Given the description of an element on the screen output the (x, y) to click on. 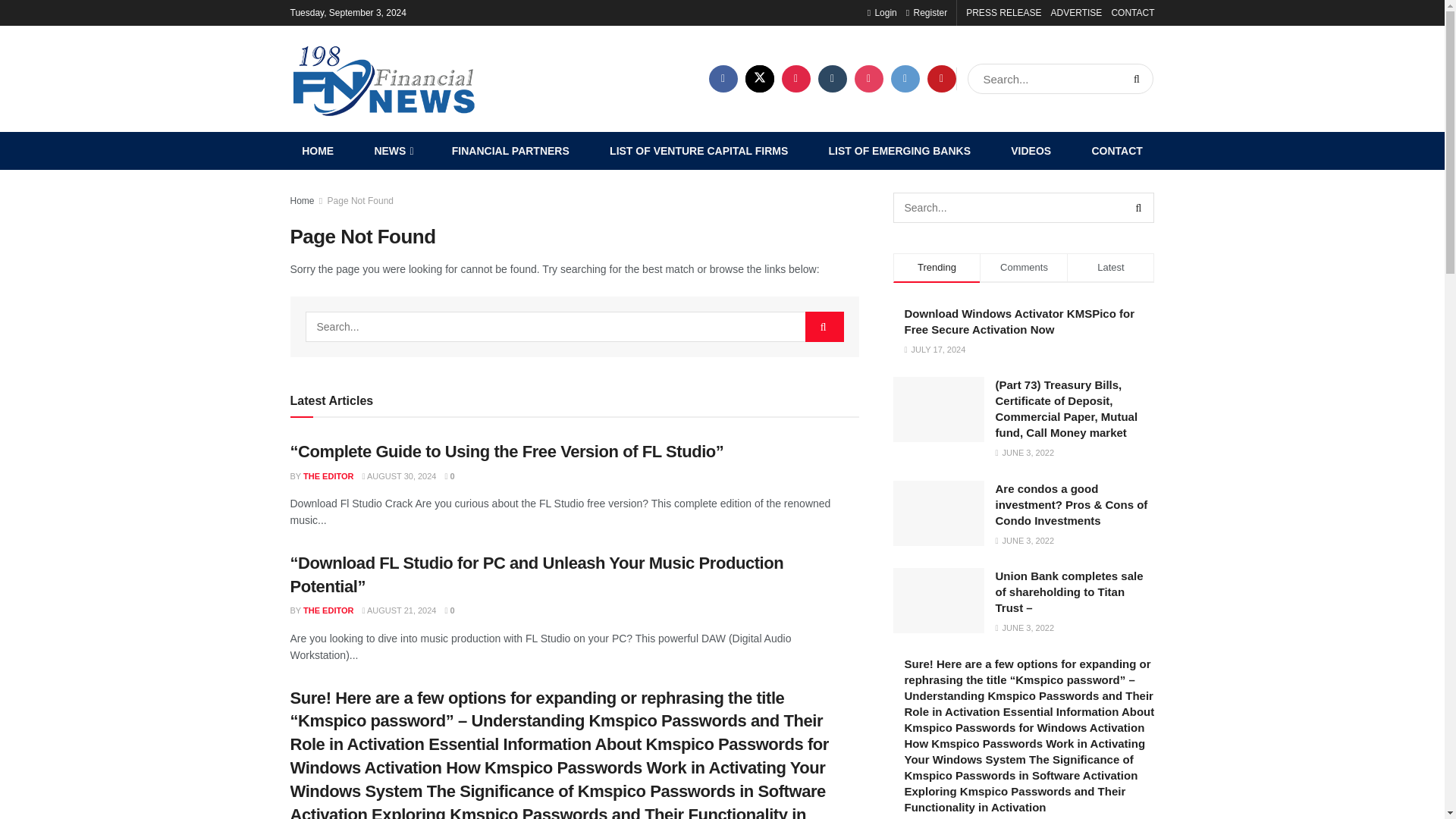
PRESS RELEASE (1003, 12)
NEWS (392, 150)
Register (926, 12)
LIST OF EMERGING BANKS (899, 150)
HOME (317, 150)
CONTACT (1117, 150)
CONTACT (1132, 12)
Login (881, 12)
VIDEOS (1030, 150)
LIST OF VENTURE CAPITAL FIRMS (697, 150)
